Given the description of an element on the screen output the (x, y) to click on. 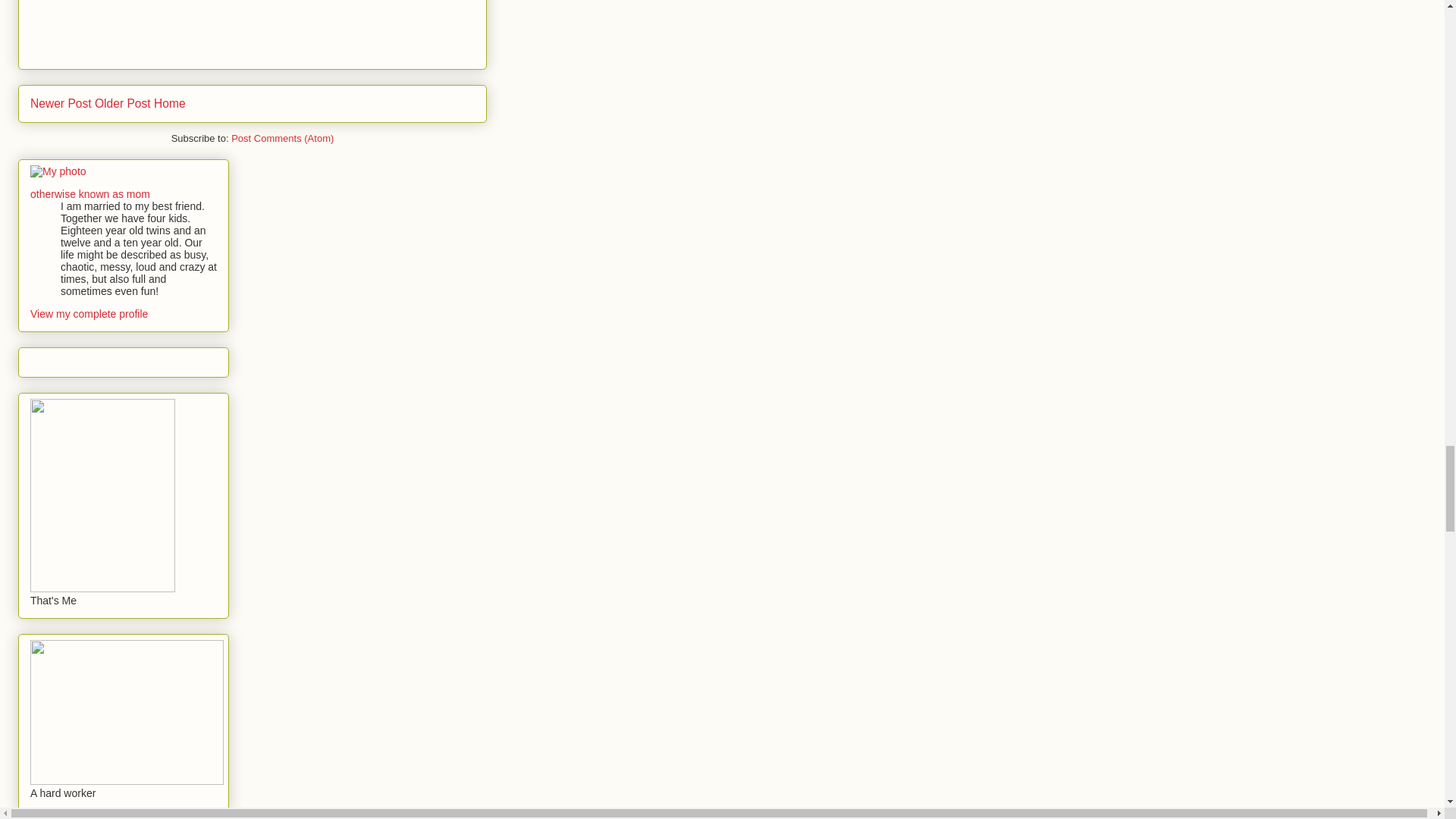
otherwise known as mom (89, 193)
Newer Post (60, 103)
Older Post (122, 103)
Home (170, 103)
Newer Post (60, 103)
Older Post (122, 103)
View my complete profile (89, 313)
